Given the description of an element on the screen output the (x, y) to click on. 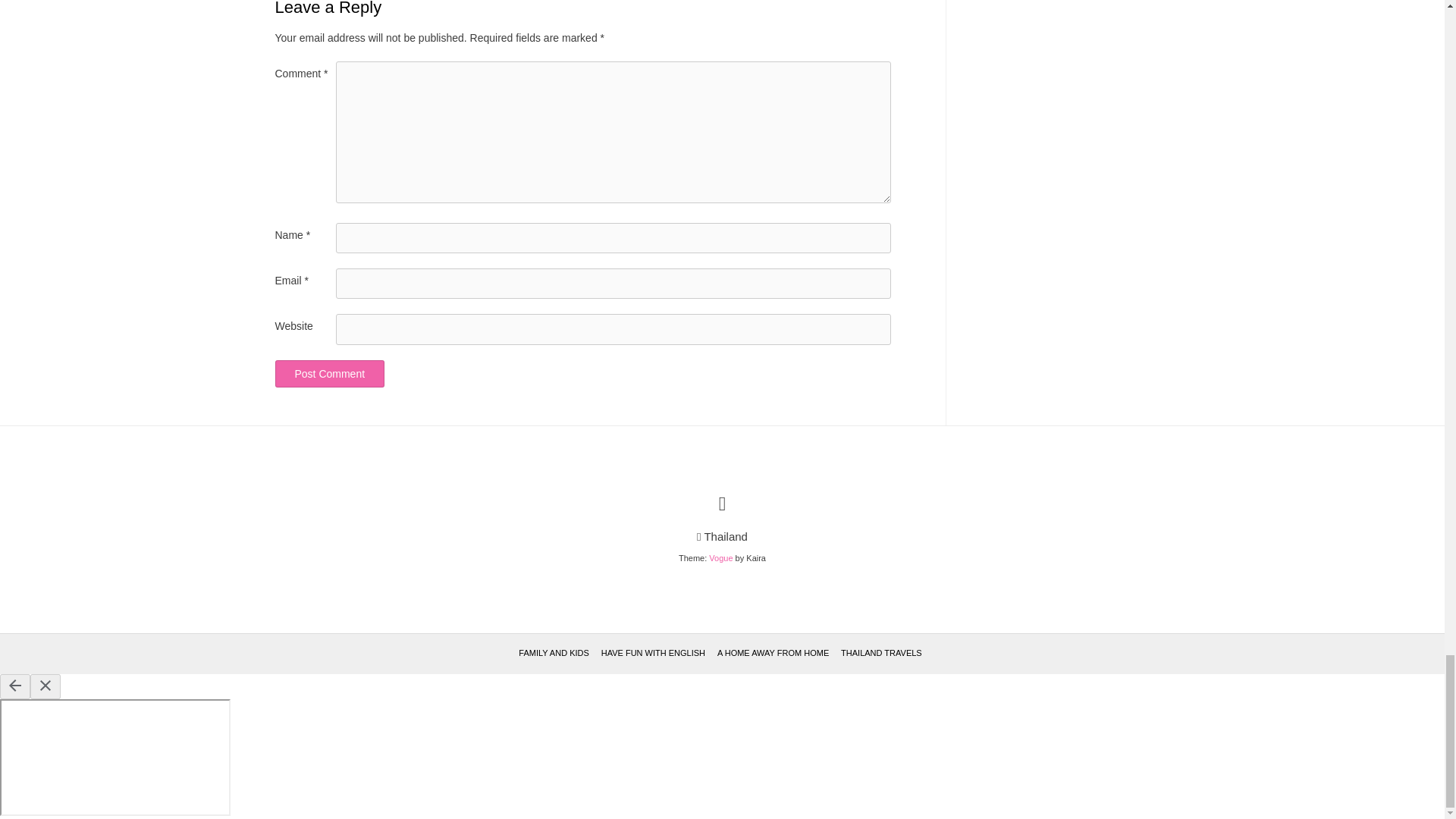
Post Comment (329, 373)
